Given the description of an element on the screen output the (x, y) to click on. 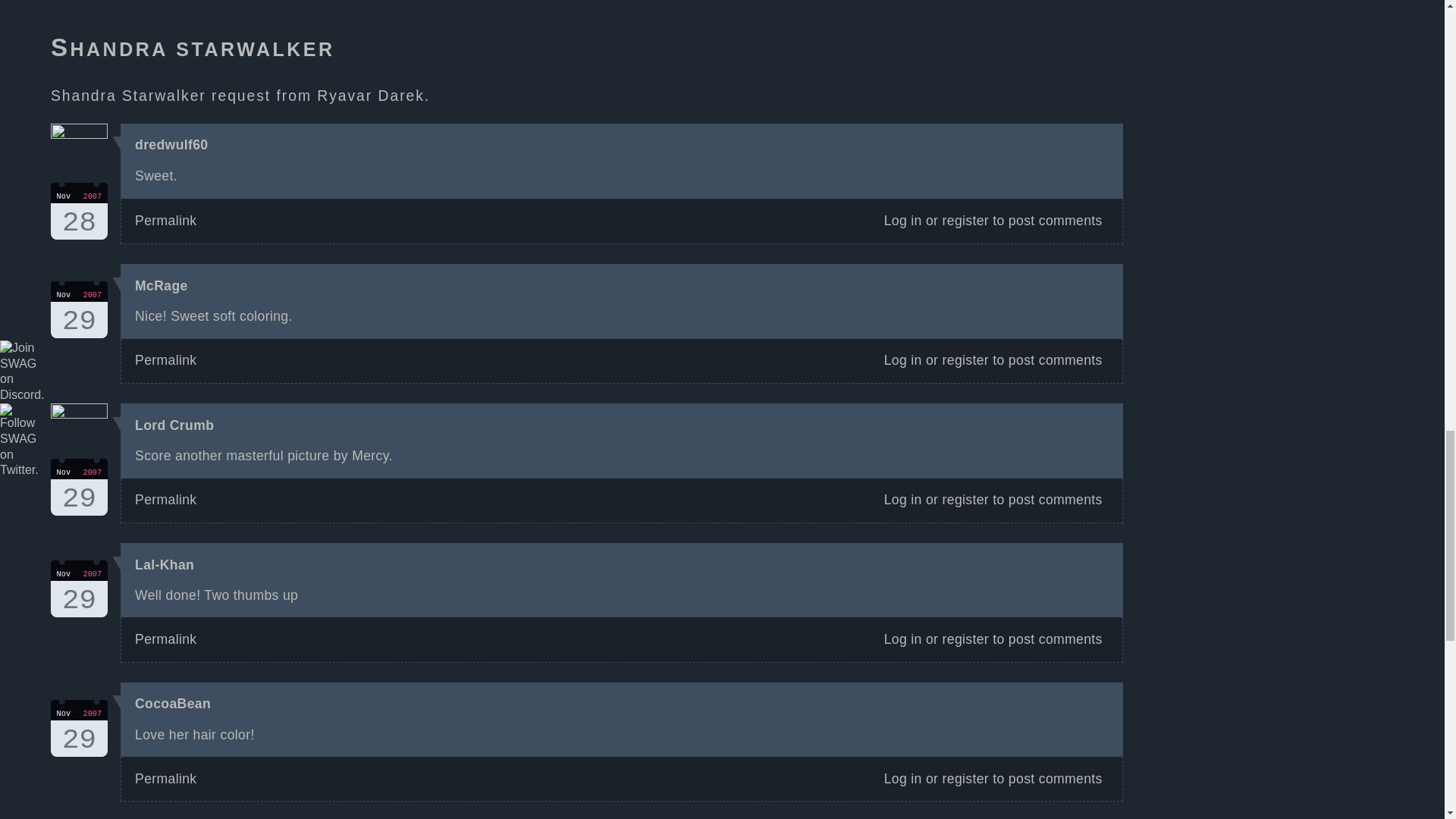
register (965, 778)
Log in (902, 359)
Permalink (165, 778)
Permalink (165, 220)
register (965, 499)
McRage (161, 285)
dredwulf60 (171, 144)
Permalink (165, 499)
CocoaBean (173, 703)
View user profile. (173, 703)
Lal-Khan (164, 564)
View user profile. (161, 285)
View user profile. (171, 144)
Permalink (165, 359)
Log in (902, 639)
